Given the description of an element on the screen output the (x, y) to click on. 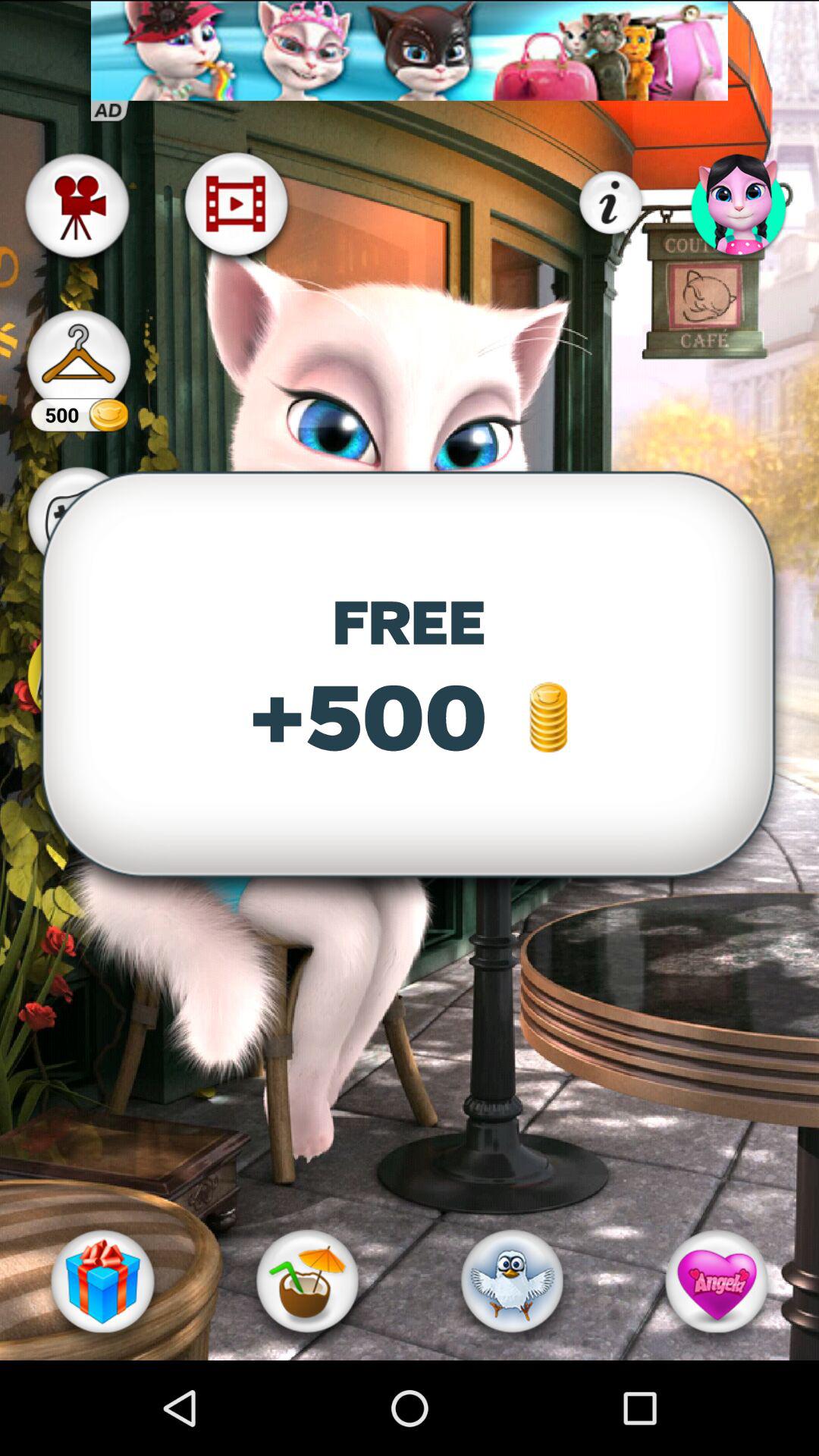
click on the icon at the bottom right corner (716, 1280)
click on the heart option at the bottom right (716, 1280)
click on the third icon which is in the bottom (511, 1280)
select the info icon (610, 203)
click on the first image which is on top (409, 50)
select the female icon on the right corner (739, 203)
click on the cat option on the top right corner (739, 203)
click on the info icon which is on the top right (610, 203)
